Given the description of an element on the screen output the (x, y) to click on. 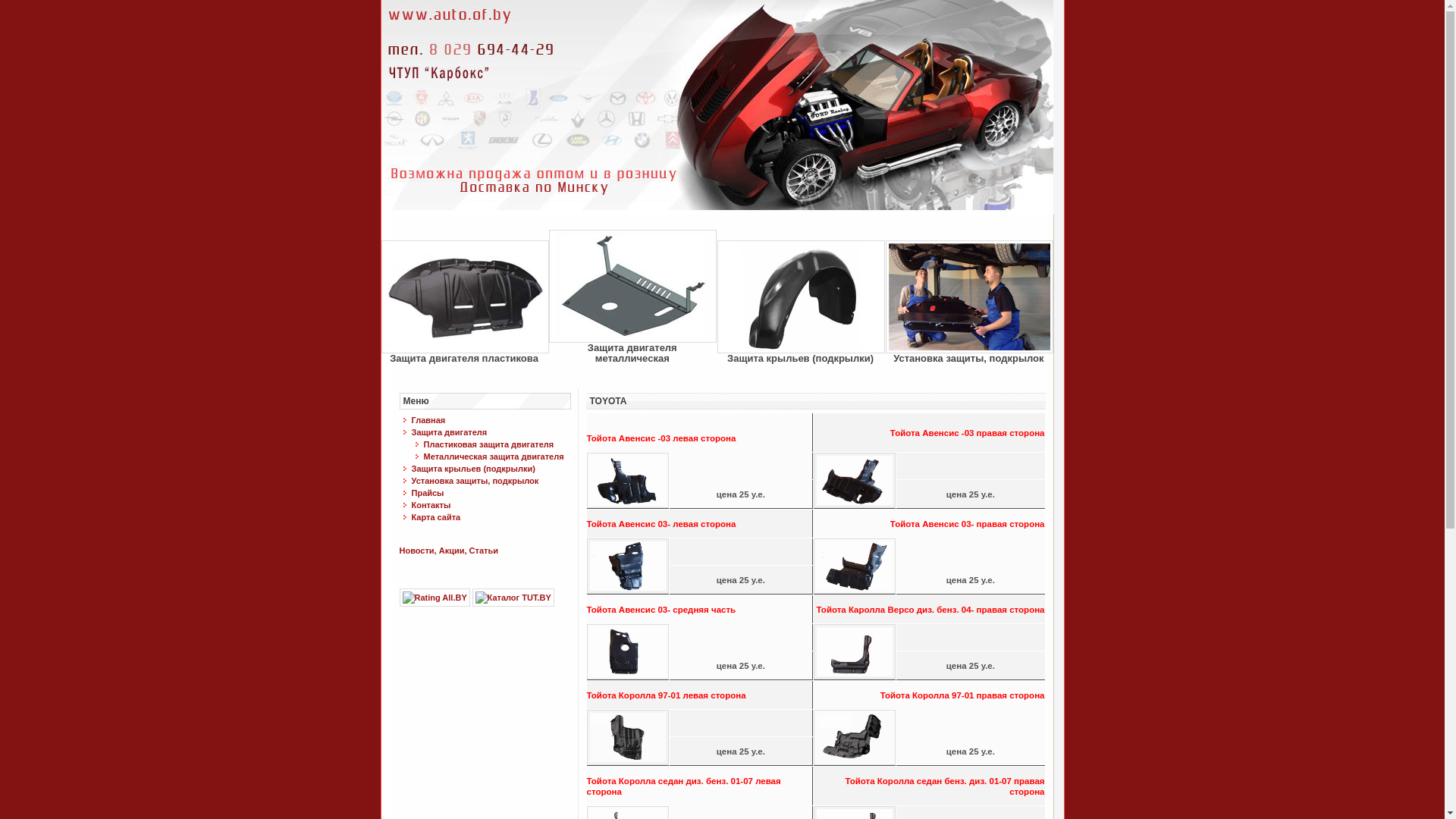
TOYOTA Element type: text (608, 400)
